Given the description of an element on the screen output the (x, y) to click on. 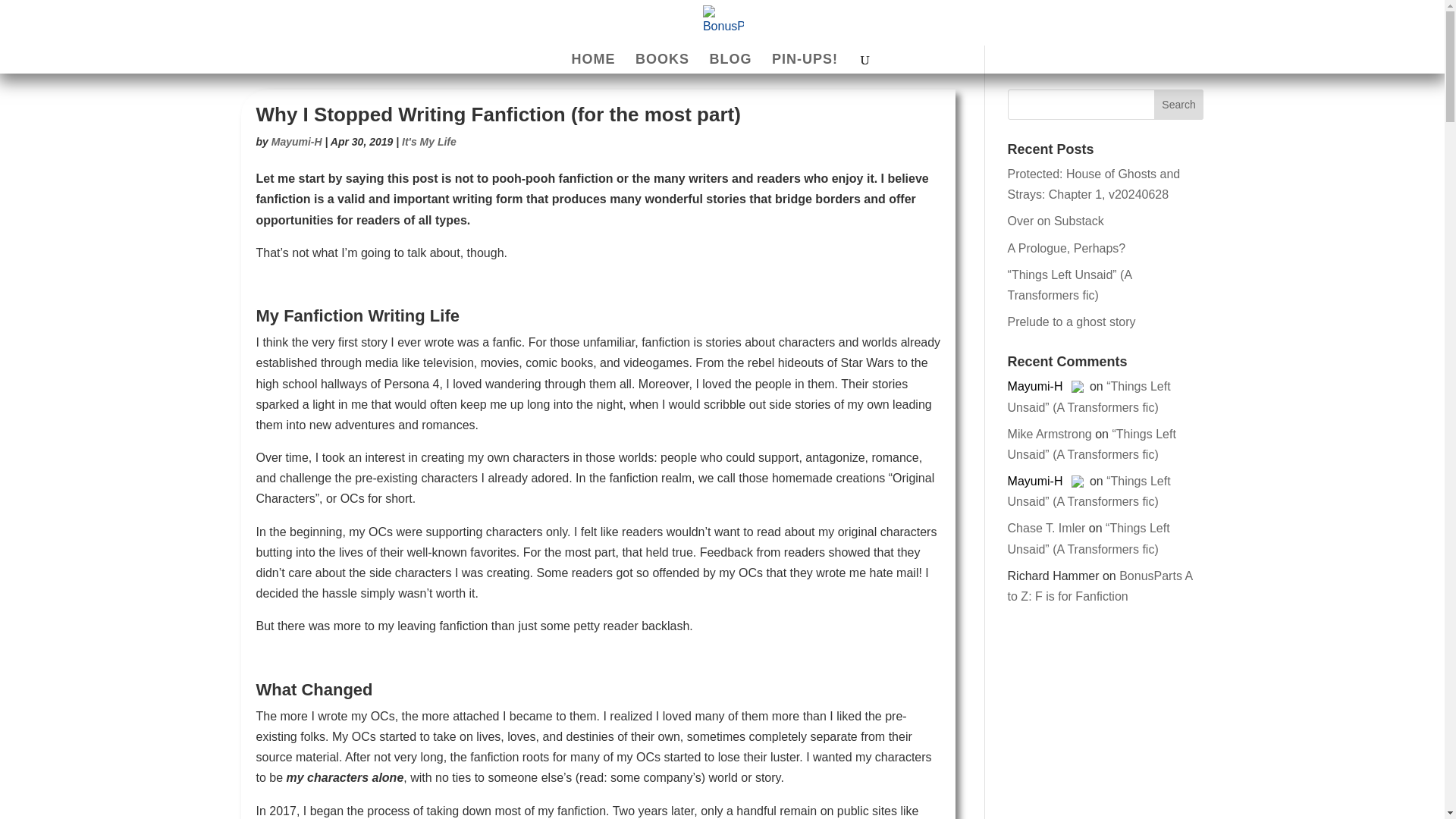
Search (1179, 104)
Posts by Mayumi-H (295, 141)
Mayumi-H (295, 141)
Over on Substack (1055, 220)
It's My Life (429, 141)
HOME (593, 63)
Search (1179, 104)
PIN-UPS! (804, 63)
BOOKS (661, 63)
A Prologue, Perhaps? (1066, 247)
